Given the description of an element on the screen output the (x, y) to click on. 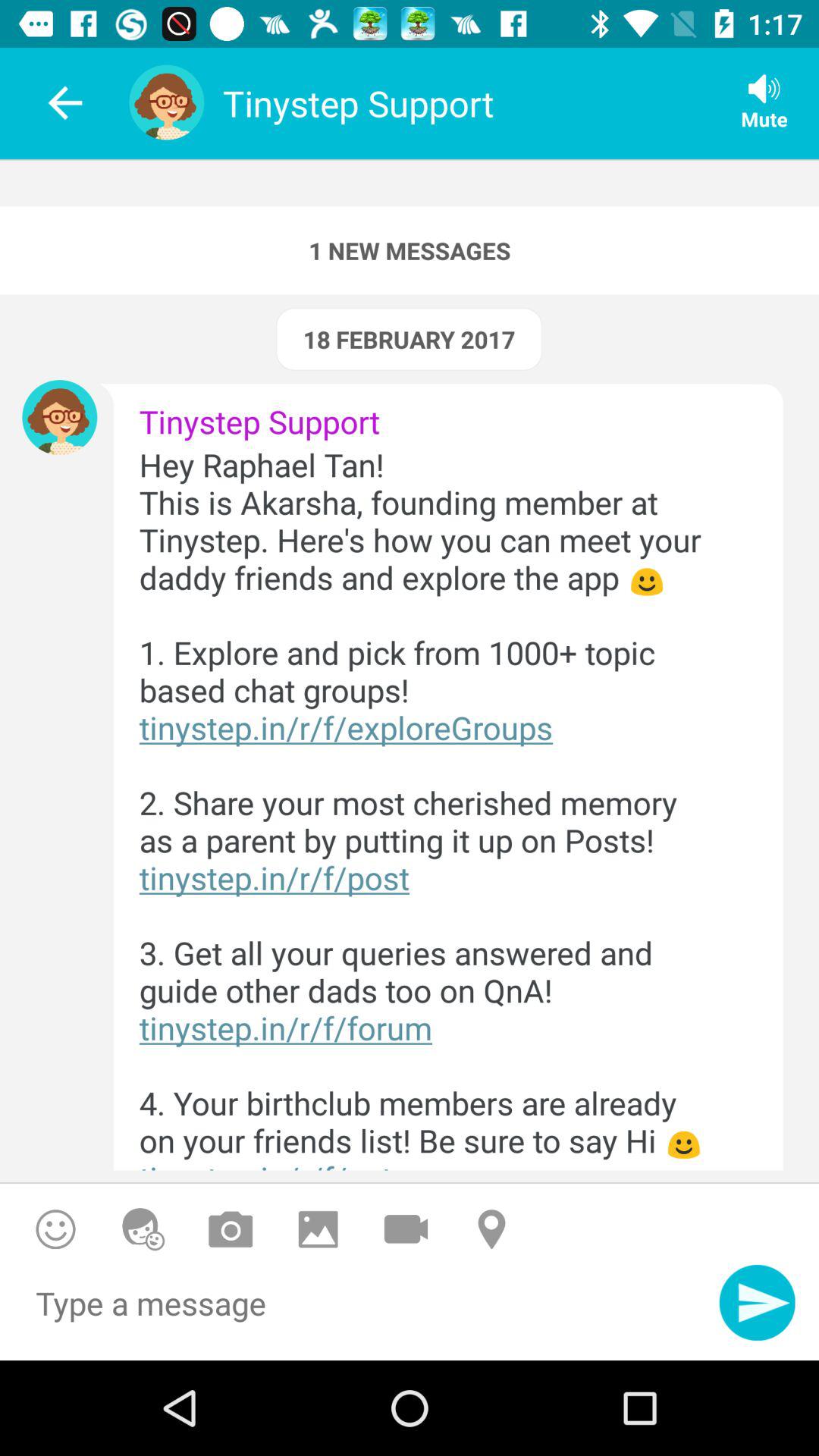
tap the item at the center (435, 806)
